Given the description of an element on the screen output the (x, y) to click on. 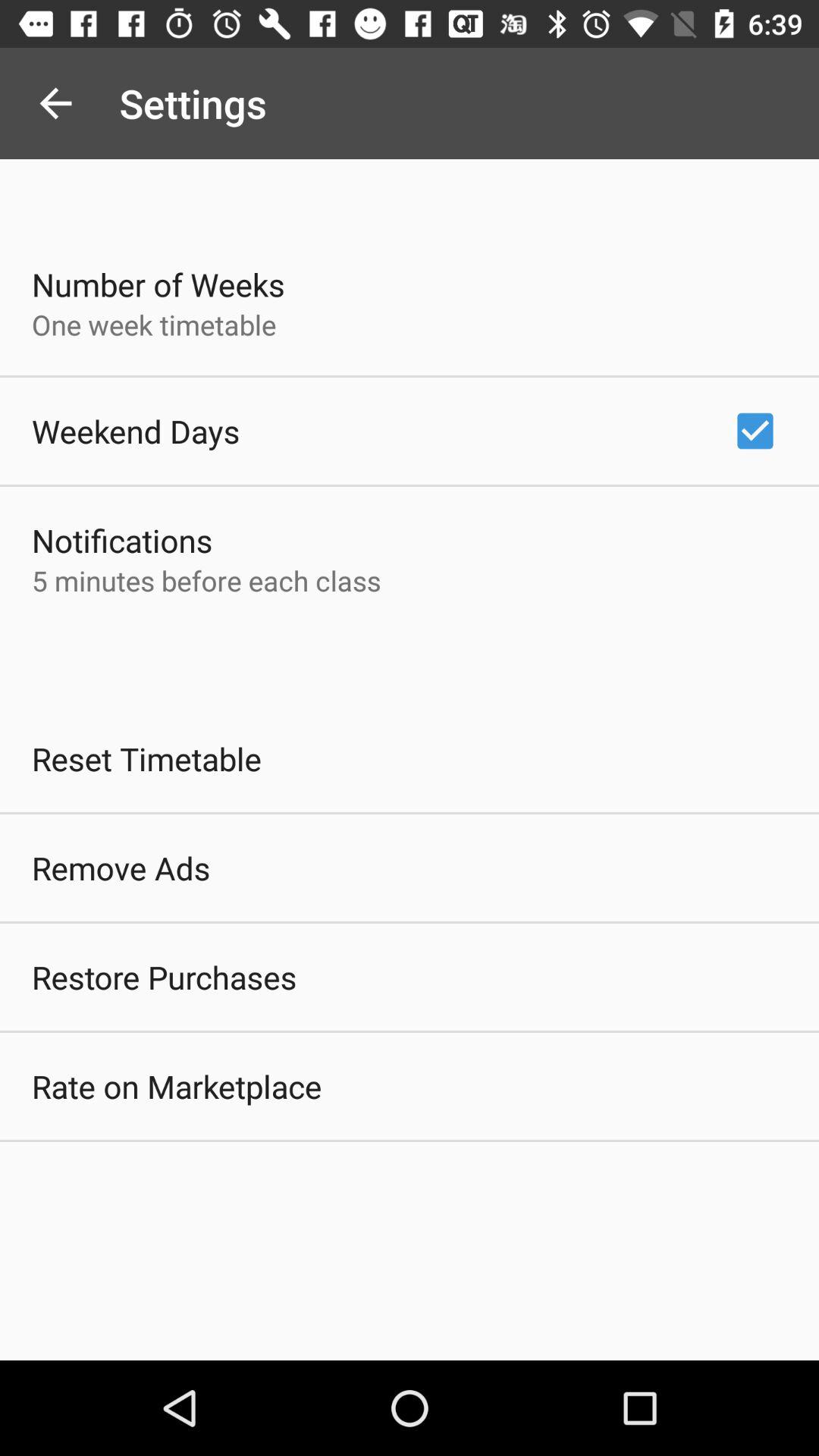
click checkbox at the top right corner (755, 430)
